Given the description of an element on the screen output the (x, y) to click on. 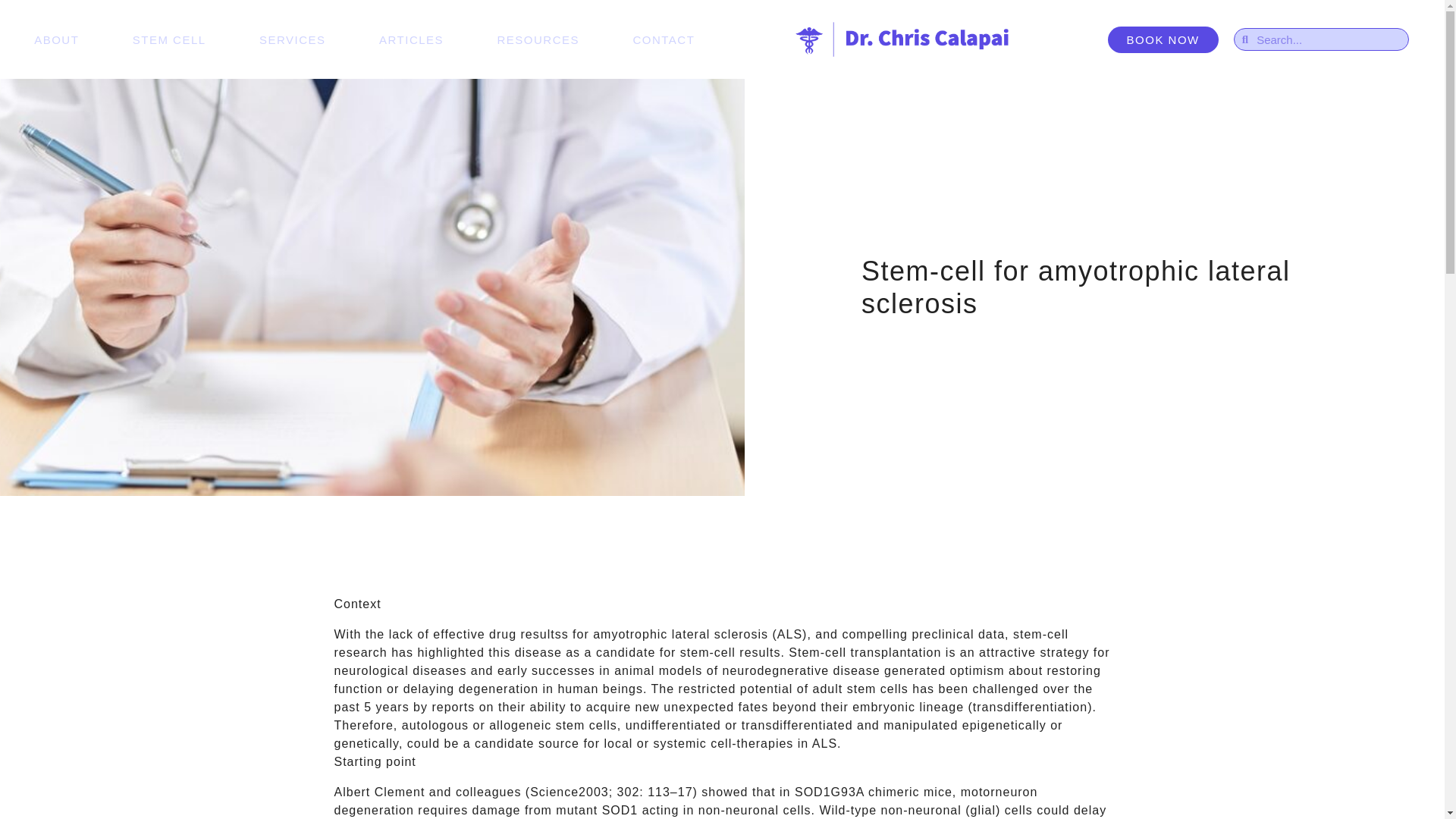
CONTACT (662, 39)
SERVICES (292, 39)
ARTICLES (411, 39)
ABOUT (56, 39)
STEM CELL (169, 39)
RESOURCES (537, 39)
